Given the description of an element on the screen output the (x, y) to click on. 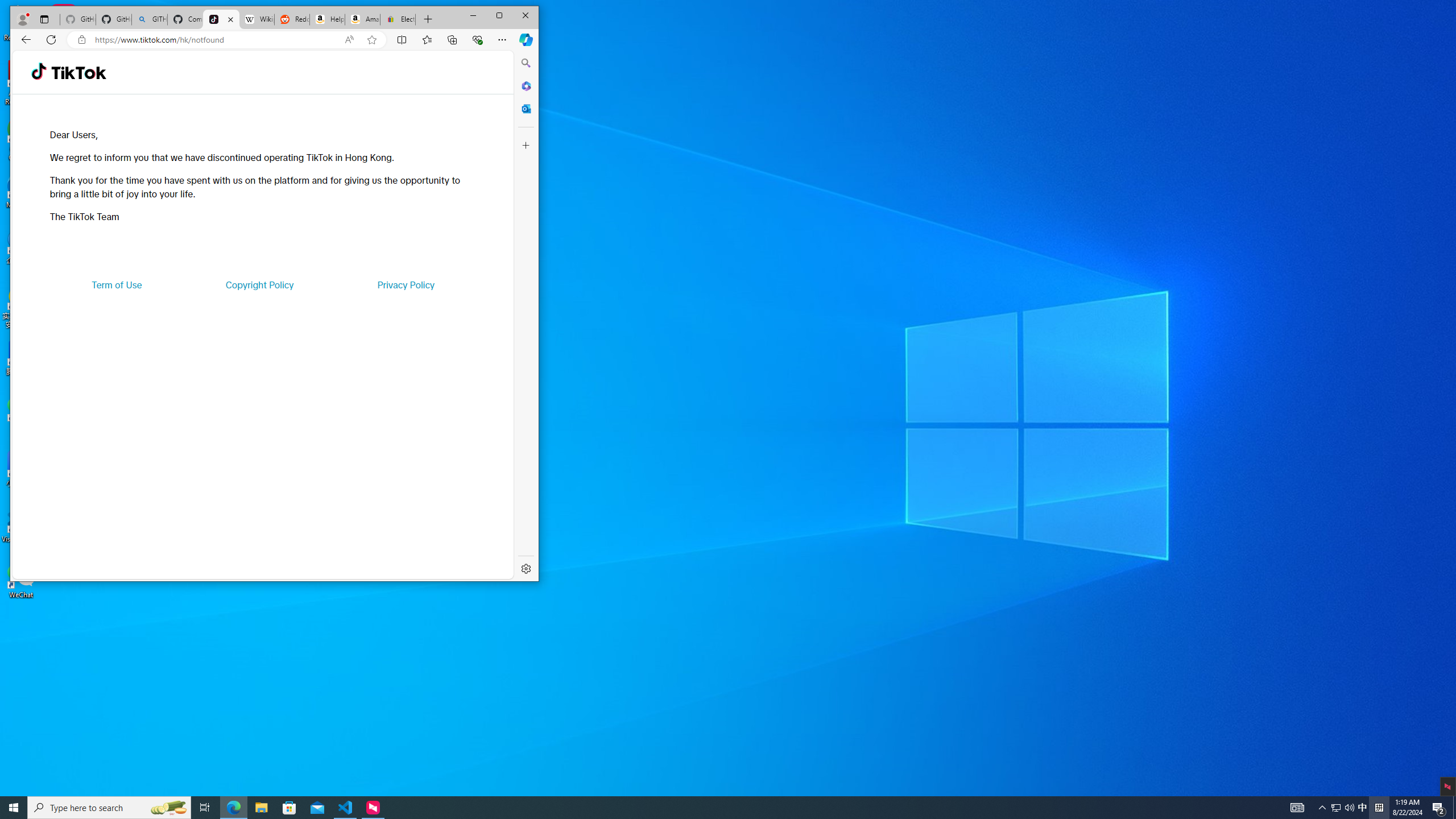
Start (13, 807)
User Promoted Notification Area (1362, 807)
Action Center, 2 new notifications (1342, 807)
Visual Studio Code - 1 running window (1439, 807)
Show desktop (345, 807)
Microsoft Store (1454, 807)
Tray Input Indicator - Chinese (Simplified, China) (289, 807)
Reddit - Dive into anything (1378, 807)
